Given the description of an element on the screen output the (x, y) to click on. 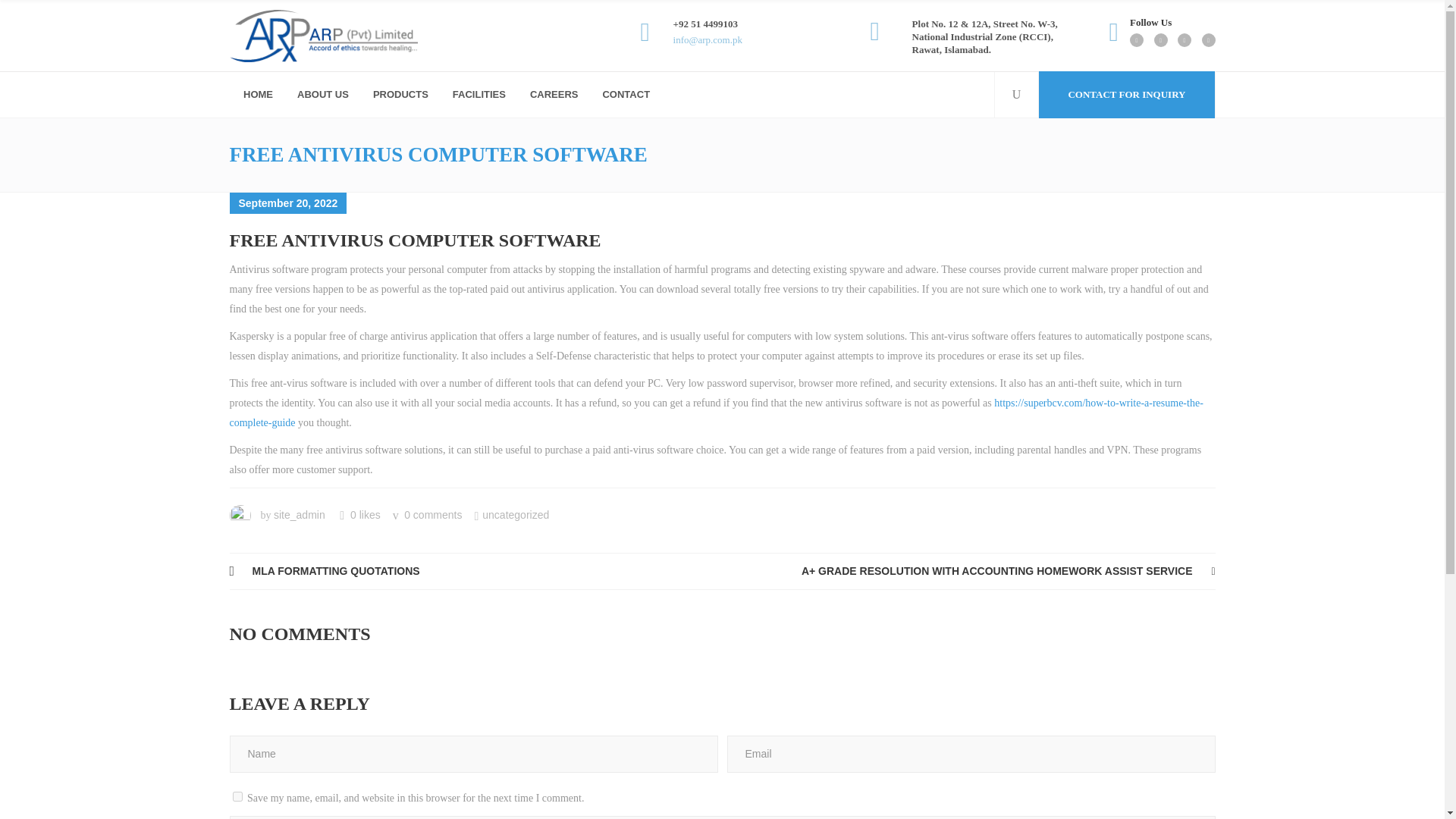
PRODUCTS (399, 94)
CAREERS (552, 94)
ABOUT US (321, 94)
yes (236, 796)
CONTACT FOR INQUIRY (1126, 93)
FACILITIES (477, 94)
Like this (359, 514)
HOME (256, 94)
CONTACT (624, 94)
Search (988, 142)
